Given the description of an element on the screen output the (x, y) to click on. 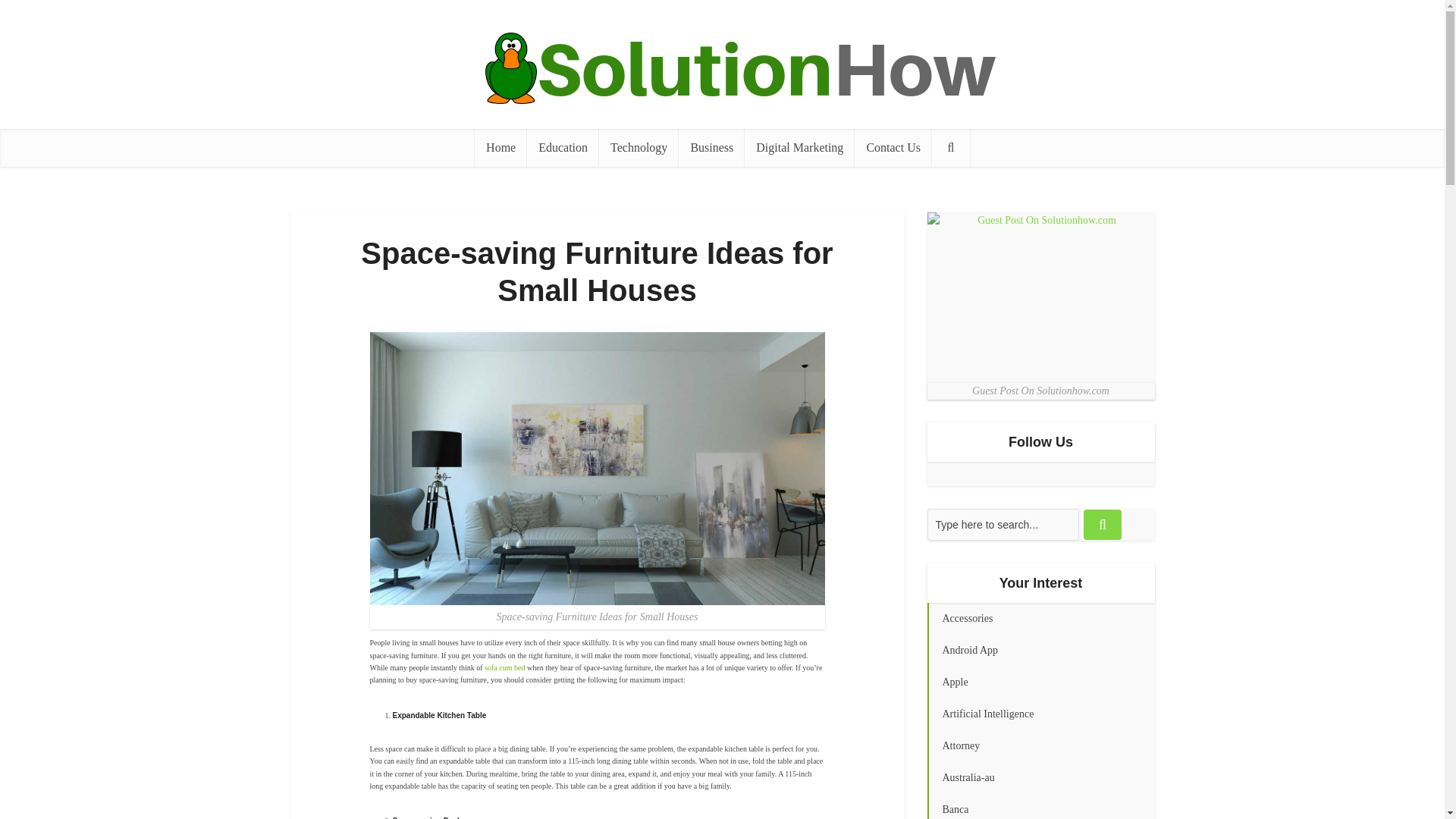
Type here to search... (1002, 524)
Android App (1040, 650)
Education (562, 147)
Business (711, 147)
Digital Marketing (799, 147)
Apple (1040, 682)
Twitter (938, 473)
sofa cum bed (504, 667)
Artificial Intelligence (1040, 714)
Technology (638, 147)
